Given the description of an element on the screen output the (x, y) to click on. 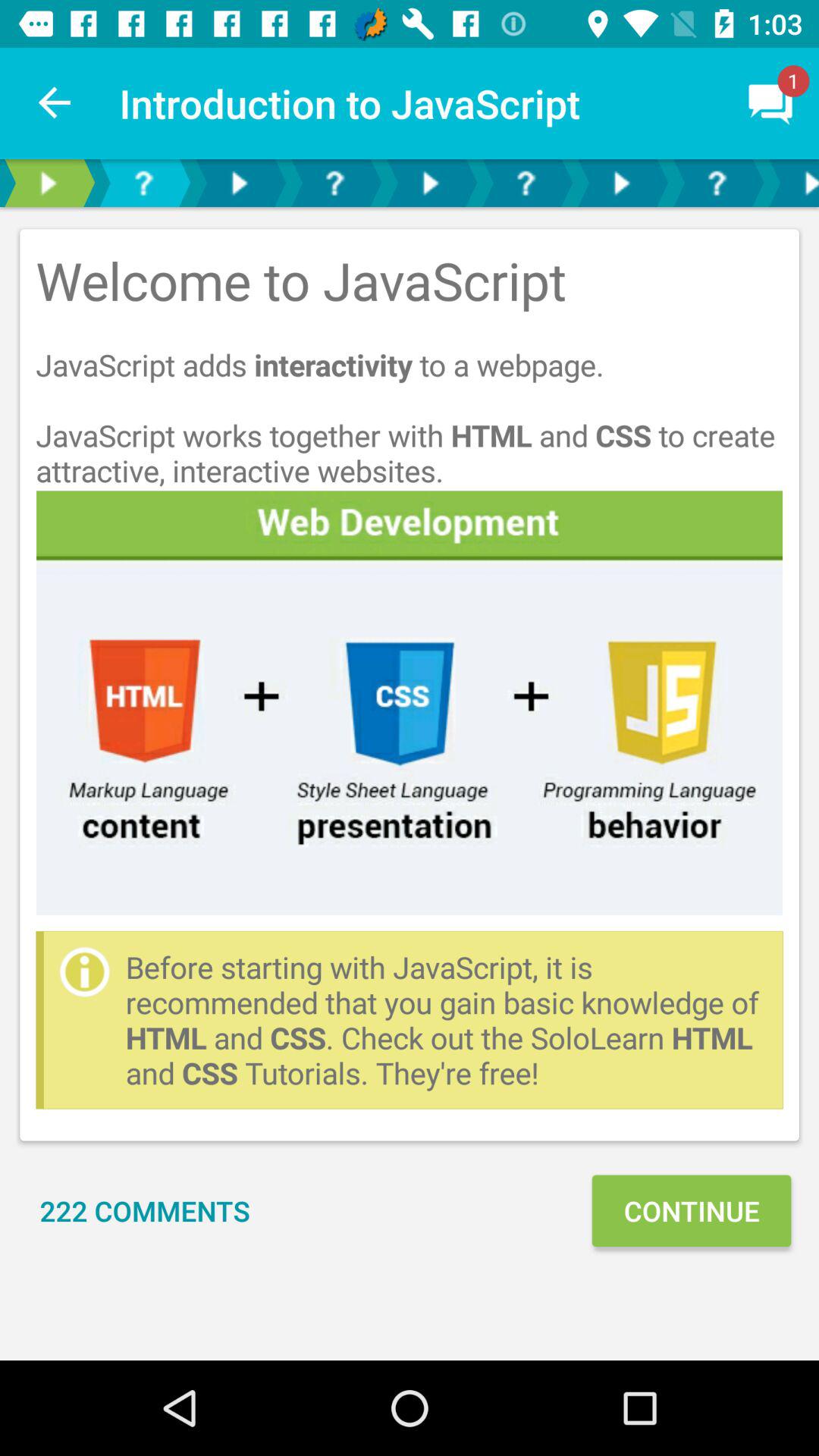
next page (791, 183)
